Given the description of an element on the screen output the (x, y) to click on. 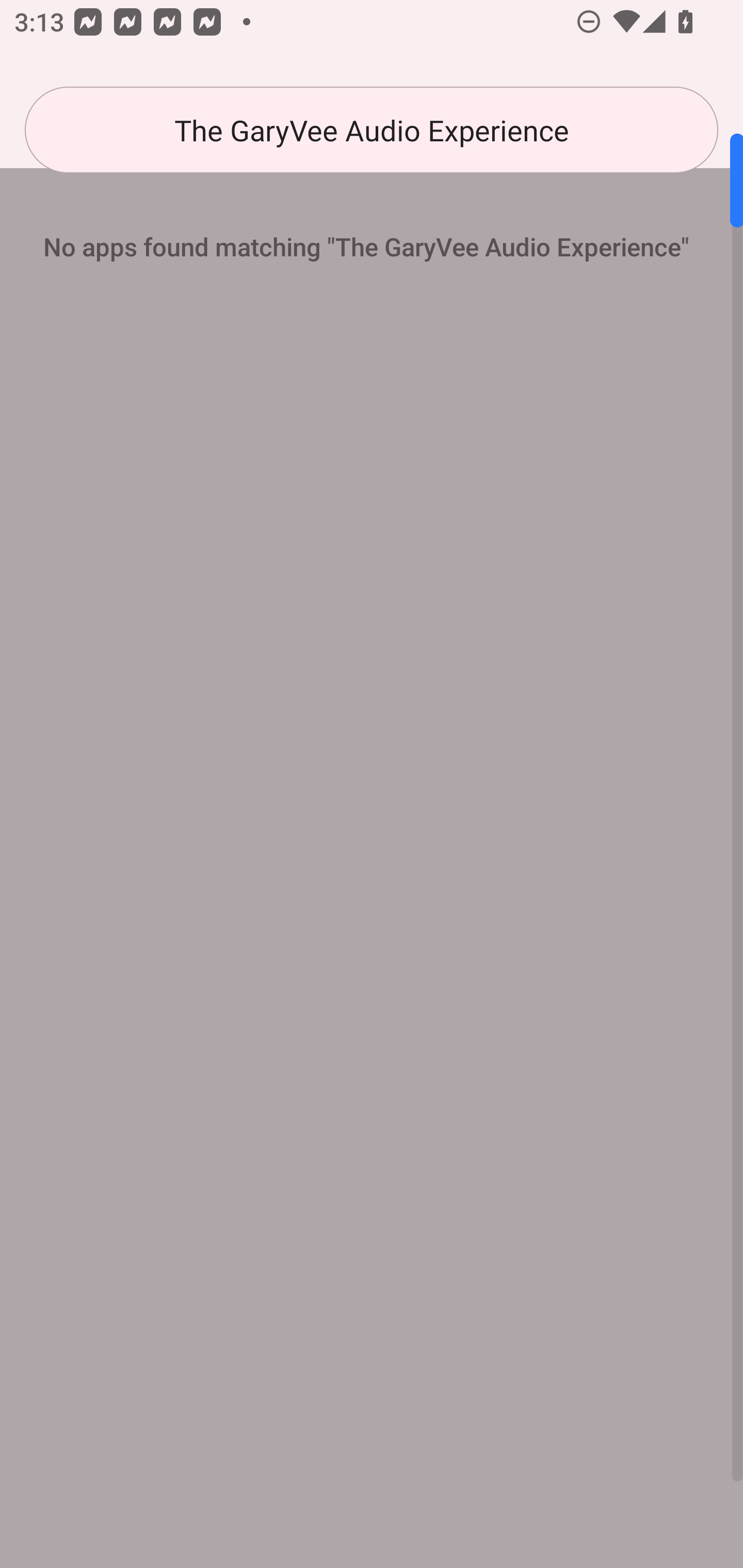
The GaryVee Audio Experience (371, 130)
